Given the description of an element on the screen output the (x, y) to click on. 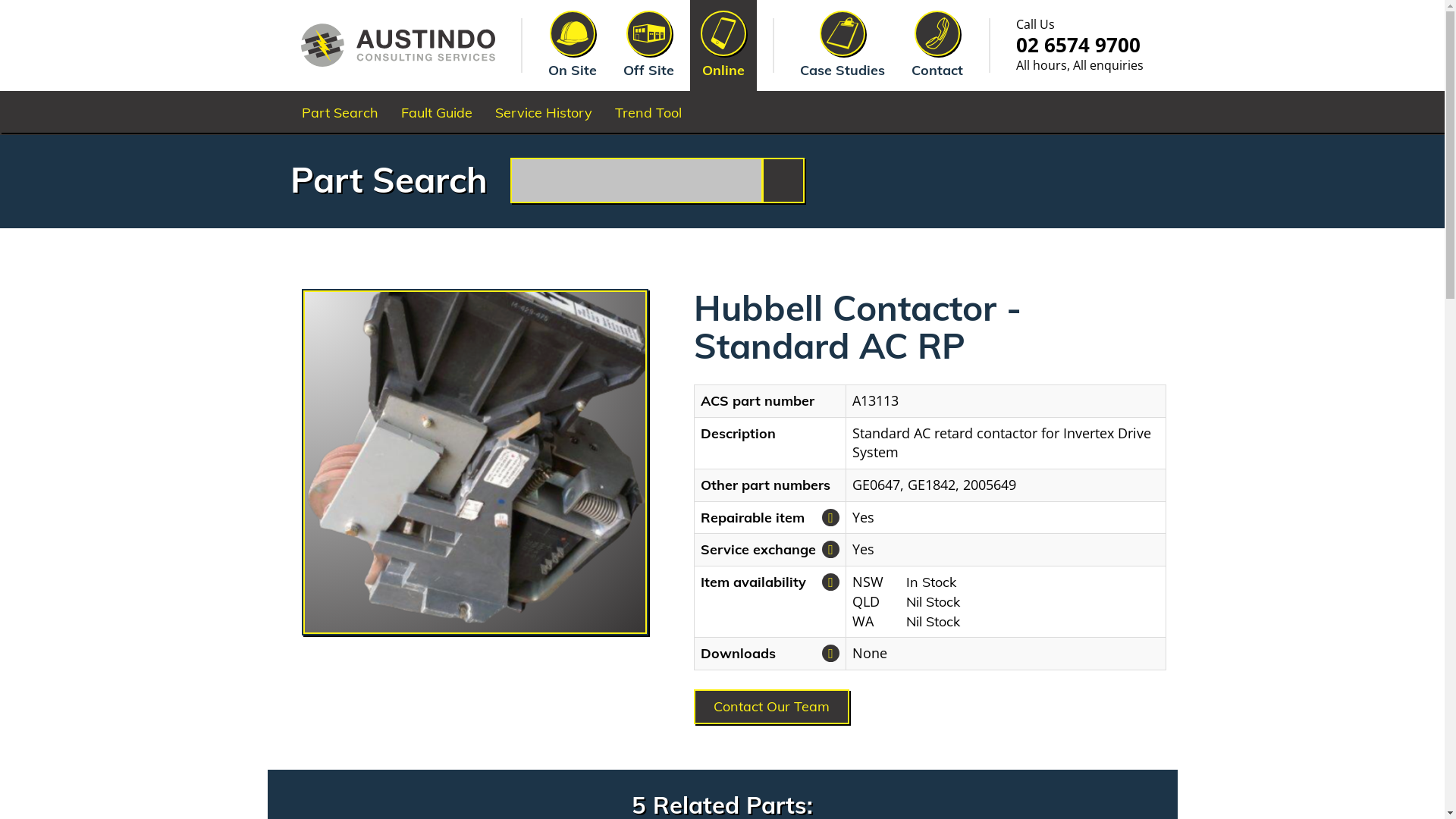
Contact Element type: text (936, 45)
Service History Element type: text (543, 112)
Hubbell Contactor - Standard AC RP Element type: hover (475, 462)
Trend Tool Element type: text (648, 112)
Online Element type: text (723, 45)
Contact Our Team Element type: text (771, 706)
Off Site Element type: text (648, 45)
Part Search Element type: text (339, 112)
On Site Element type: text (572, 45)
Case Studies Element type: text (842, 45)
Fault Guide Element type: text (436, 112)
